Given the description of an element on the screen output the (x, y) to click on. 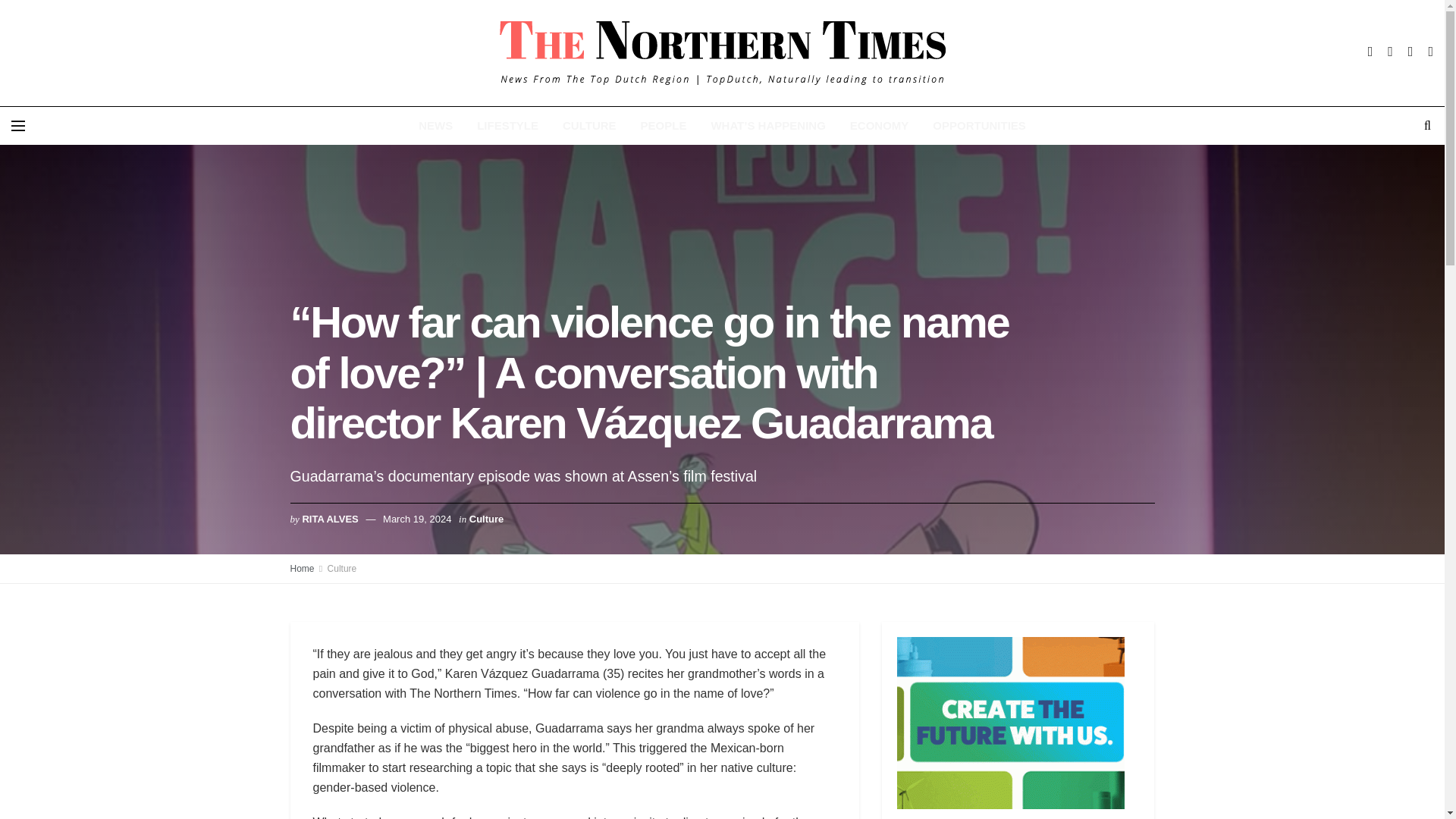
LIFESTYLE (507, 125)
OPPORTUNITIES (979, 125)
Culture (341, 568)
Culture (485, 518)
PEOPLE (663, 125)
RITA ALVES (329, 518)
Home (301, 568)
CULTURE (589, 125)
March 19, 2024 (416, 518)
ECONOMY (879, 125)
